Given the description of an element on the screen output the (x, y) to click on. 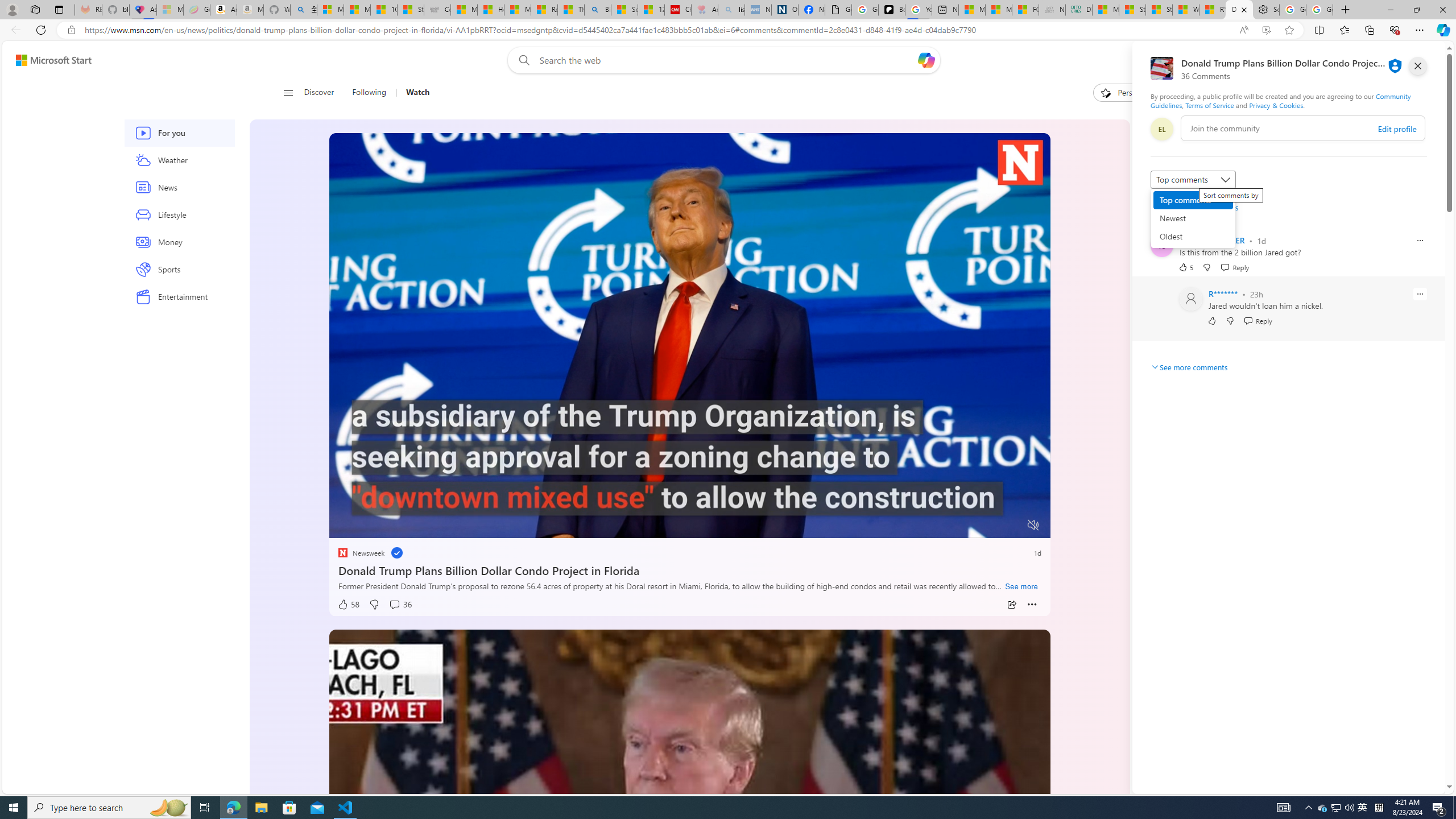
12 Popular Science Lies that Must be Corrected (651, 9)
Open navigation menu (287, 92)
Report comment (1419, 293)
Bing (597, 9)
Science - MSN (623, 9)
Nordace (1182, 601)
